Given the description of an element on the screen output the (x, y) to click on. 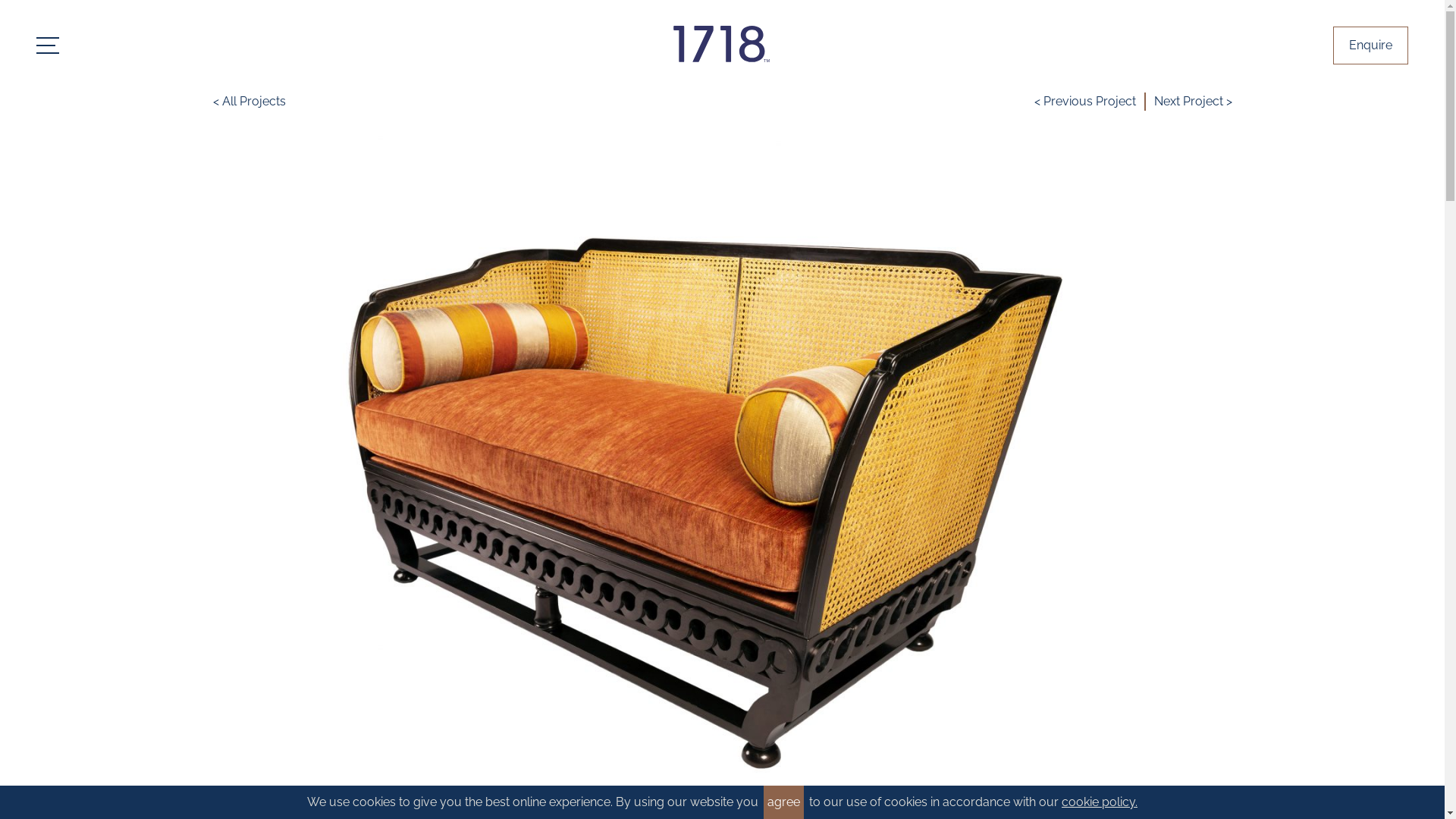
Next Project > Element type: text (1193, 101)
< Previous Project Element type: text (1084, 101)
Enquire Element type: text (1370, 45)
cookie policy. Element type: text (1099, 801)
< All Projects Element type: text (248, 101)
